Given the description of an element on the screen output the (x, y) to click on. 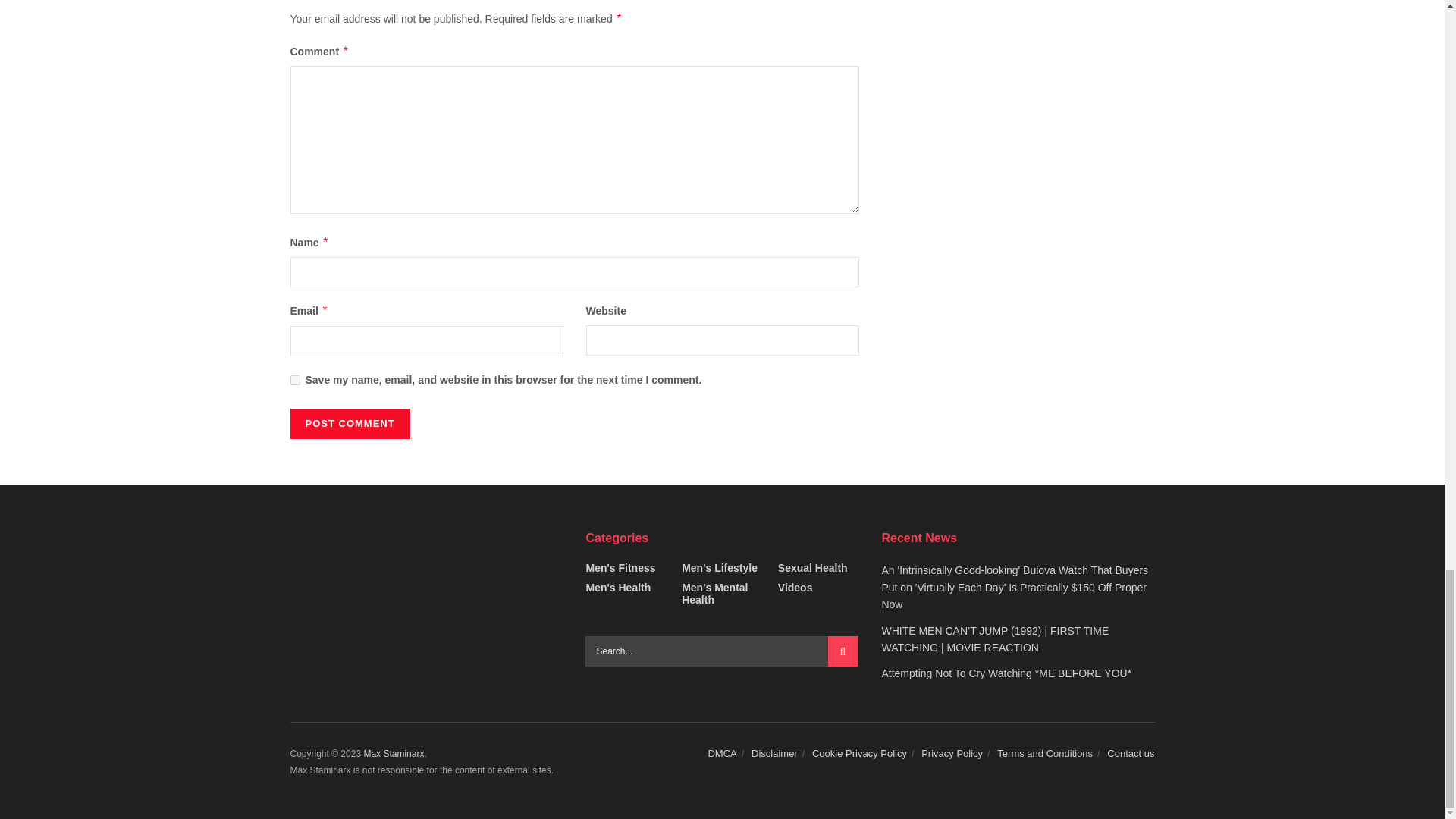
yes (294, 379)
Post Comment (349, 423)
Max Staminarx (392, 753)
